Given the description of an element on the screen output the (x, y) to click on. 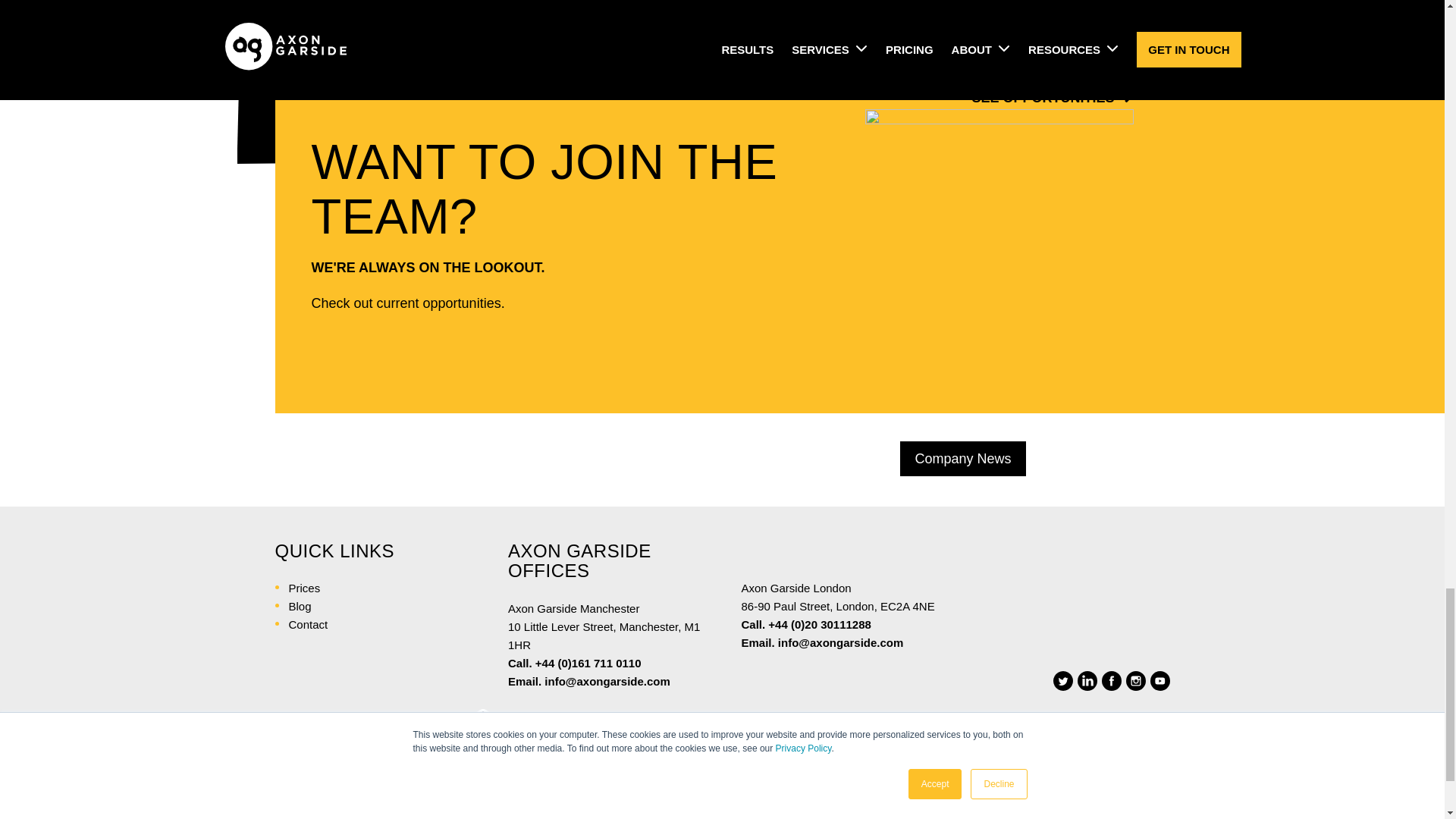
Prices (304, 587)
Contact (307, 624)
Company News (962, 458)
SEE OPPORTUNITIES  (1044, 97)
Blog (299, 605)
